Given the description of an element on the screen output the (x, y) to click on. 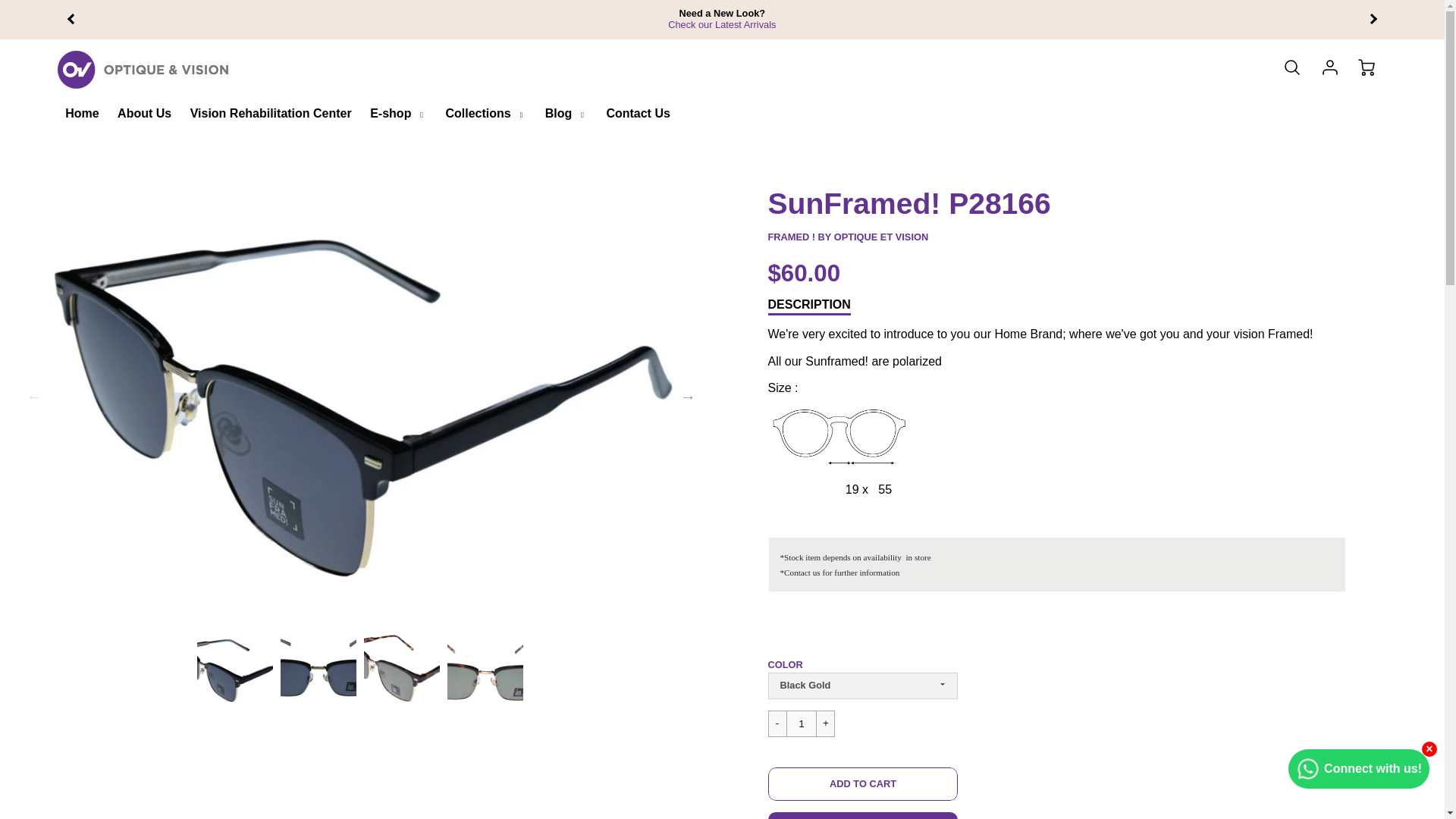
Home (82, 114)
Collections (486, 114)
Contact Us (637, 114)
1 (801, 723)
About Us (144, 114)
Framed ! by Optique et Vision (847, 236)
E-shop (397, 114)
Check our Latest Arrivals (722, 24)
Vision Rehabilitation Center (271, 114)
New Arrivals (722, 24)
